Given the description of an element on the screen output the (x, y) to click on. 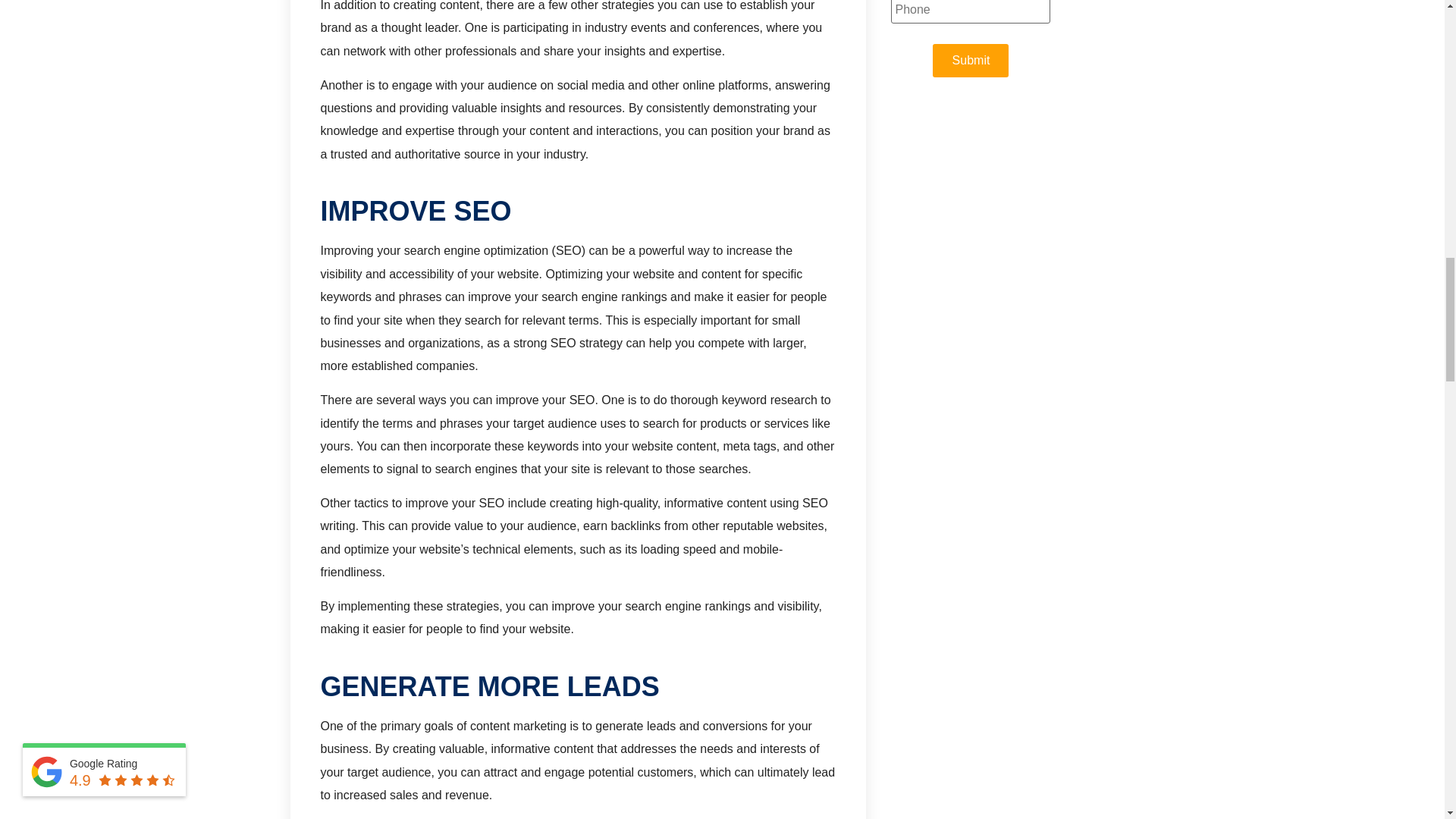
Submit (971, 60)
